Given the description of an element on the screen output the (x, y) to click on. 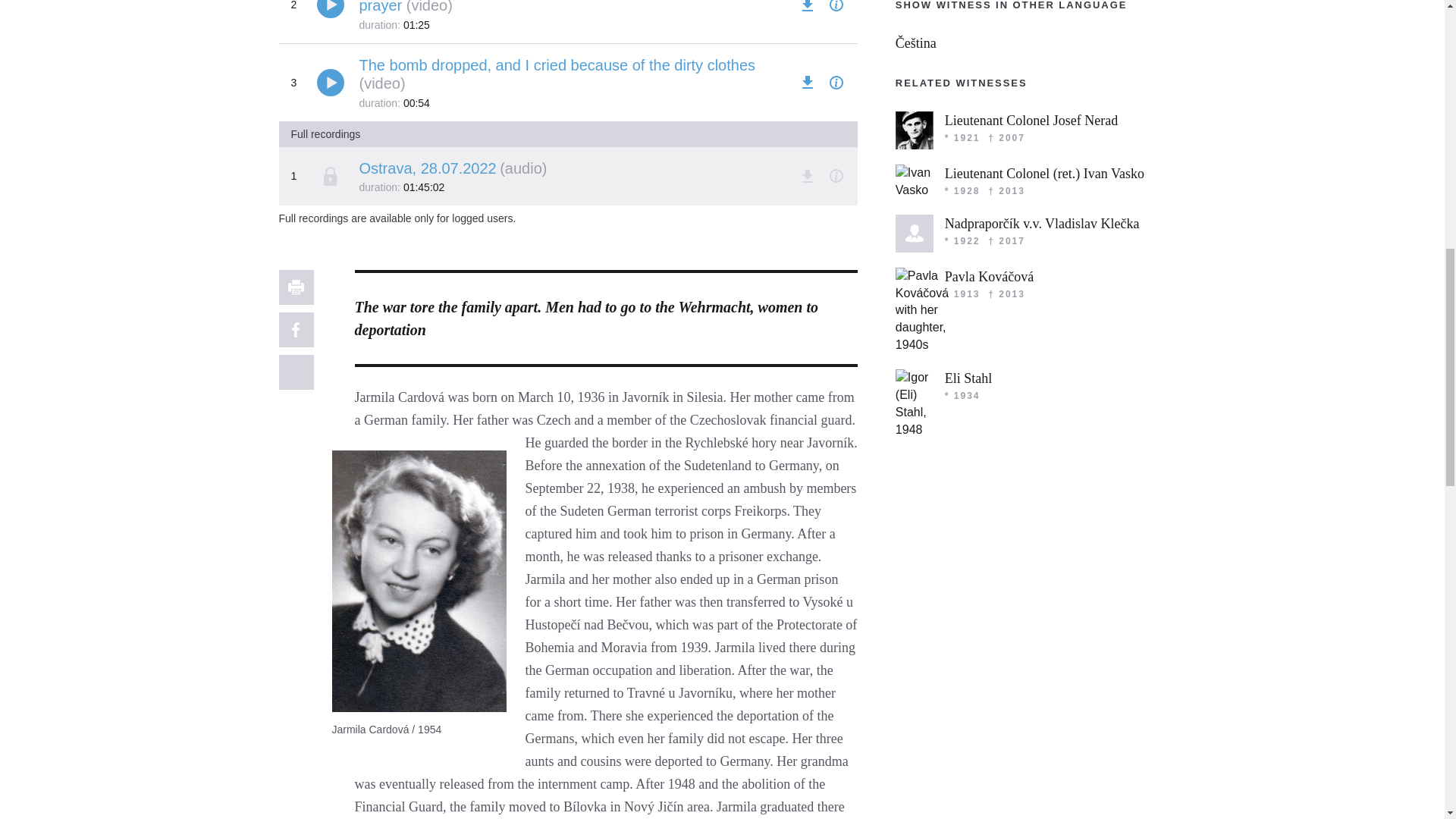
Download file (807, 7)
Download file (807, 82)
Download file (807, 175)
